Given the description of an element on the screen output the (x, y) to click on. 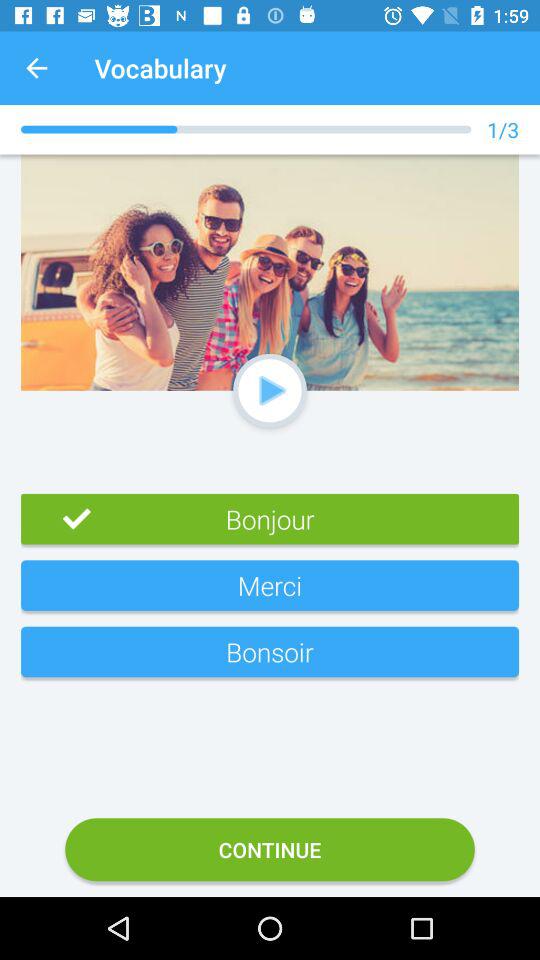
scroll until continue (269, 849)
